Given the description of an element on the screen output the (x, y) to click on. 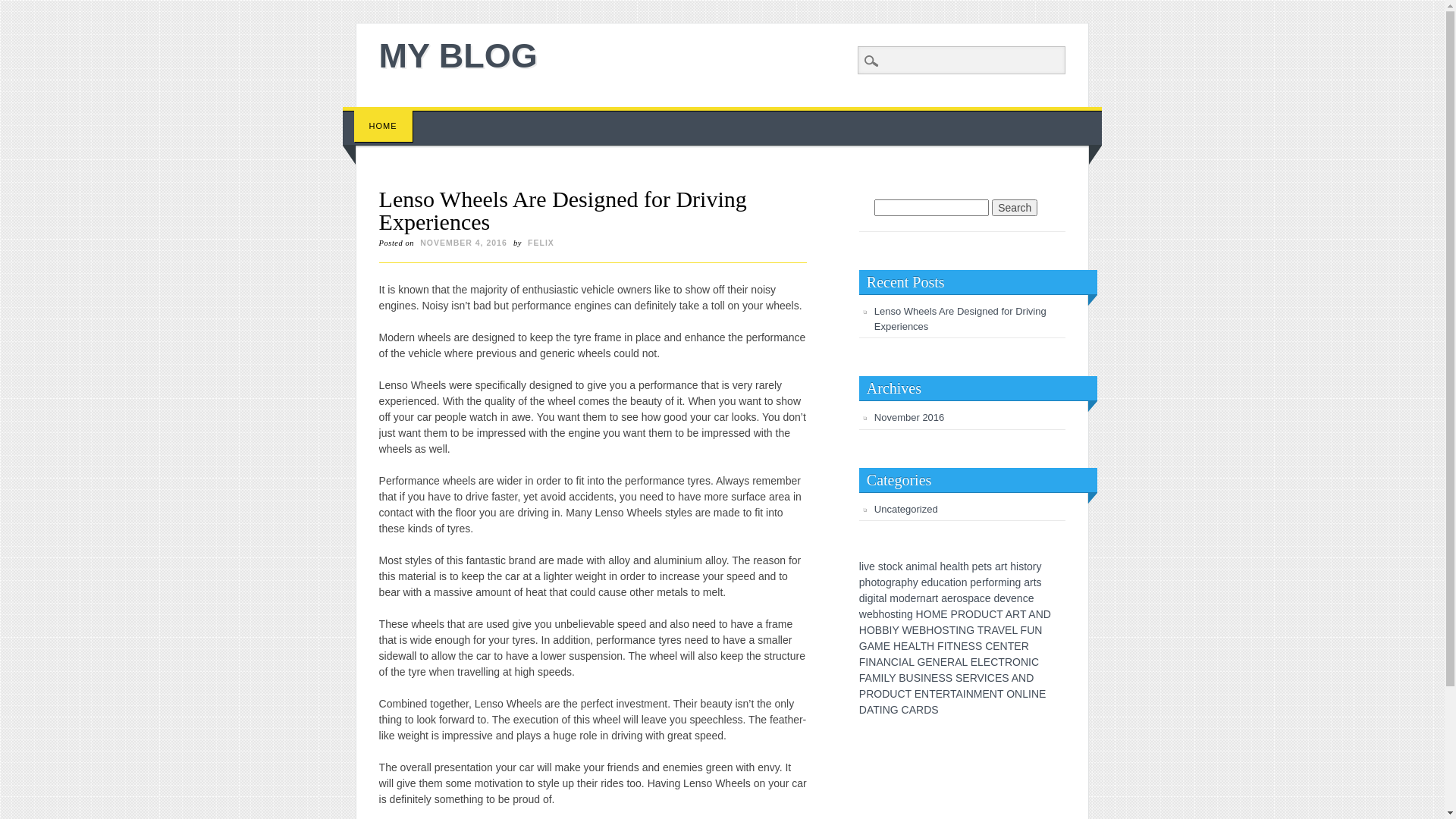
S Element type: text (971, 646)
L Element type: text (1013, 630)
P Element type: text (862, 693)
N Element type: text (1024, 661)
E Element type: text (928, 661)
A Element type: text (904, 661)
H Element type: text (919, 614)
e Element type: text (1031, 598)
t Element type: text (876, 598)
U Element type: text (1030, 630)
N Element type: text (1037, 630)
d Element type: text (862, 598)
h Element type: text (909, 582)
E Element type: text (997, 677)
s Element type: text (1038, 582)
B Element type: text (922, 630)
D Element type: text (862, 709)
i Element type: text (918, 566)
R Element type: text (987, 630)
I Element type: text (882, 677)
o Element type: text (889, 566)
O Element type: text (969, 614)
M Element type: text (936, 614)
R Element type: text (1008, 661)
S Element type: text (978, 646)
U Element type: text (909, 677)
s Element type: text (892, 614)
A Element type: text (957, 661)
w Element type: text (862, 614)
E Element type: text (963, 646)
C Element type: text (900, 693)
t Element type: text (884, 566)
I Element type: text (1029, 661)
o Element type: text (887, 614)
c Element type: text (941, 582)
D Element type: text (885, 693)
i Element type: text (1017, 566)
N Element type: text (1018, 693)
n Element type: text (914, 566)
d Element type: text (996, 598)
N Element type: text (886, 709)
Lenso Wheels Are Designed for Driving Experiences Element type: text (562, 210)
A Element type: text (910, 646)
y Element type: text (1038, 566)
F Element type: text (1023, 630)
Lenso Wheels Are Designed for Driving Experiences Element type: text (960, 318)
T Element type: text (1000, 693)
C Element type: text (1034, 661)
p Element type: text (862, 582)
o Element type: text (1029, 566)
l Element type: text (958, 566)
r Element type: text (893, 582)
C Element type: text (905, 709)
r Element type: text (983, 582)
November 2016 Element type: text (909, 417)
E Element type: text (917, 693)
r Element type: text (955, 598)
i Element type: text (874, 598)
S Element type: text (1004, 677)
A Element type: text (1008, 614)
T Element type: text (952, 630)
n Element type: text (1019, 598)
R Element type: text (961, 614)
c Element type: text (982, 598)
Y Element type: text (894, 630)
E Element type: text (1041, 693)
F Element type: text (940, 646)
I Element type: text (899, 661)
e Element type: text (869, 614)
Search Element type: text (22, 8)
O Element type: text (1016, 661)
S Element type: text (948, 677)
m Element type: text (893, 598)
A Element type: text (958, 693)
L Element type: text (910, 661)
s Element type: text (1020, 566)
H Element type: text (930, 646)
t Element type: text (877, 582)
T Element type: text (950, 646)
c Element type: text (1025, 598)
P Element type: text (953, 614)
G Element type: text (863, 646)
O Element type: text (937, 630)
H Element type: text (862, 630)
O Element type: text (870, 630)
e Element type: text (980, 566)
B Element type: text (884, 630)
Search Element type: text (1014, 207)
T Element type: text (875, 709)
FELIX Element type: text (541, 242)
c Element type: text (894, 566)
b Element type: text (875, 614)
e Element type: text (948, 566)
A Element type: text (1031, 614)
I Element type: text (889, 630)
l Element type: text (885, 598)
F Element type: text (862, 677)
I Element type: text (985, 677)
E Element type: text (986, 661)
e Element type: text (950, 598)
T Element type: text (1000, 661)
B Element type: text (901, 677)
R Element type: text (946, 693)
G Element type: text (894, 709)
S Element type: text (941, 677)
a Element type: text (976, 598)
d Element type: text (929, 582)
V Element type: text (1000, 630)
L Element type: text (885, 677)
S Element type: text (916, 677)
S Element type: text (958, 677)
p Element type: text (972, 582)
o Element type: text (991, 582)
r Element type: text (995, 582)
I Element type: text (880, 709)
t Element type: text (896, 614)
s Element type: text (880, 566)
E Element type: text (938, 693)
a Element type: text (954, 566)
N Element type: text (1003, 646)
a Element type: text (1026, 582)
M Element type: text (876, 677)
t Element type: text (1024, 566)
g Element type: text (1018, 582)
T Element type: text (1010, 646)
D Element type: text (977, 614)
N Element type: text (924, 693)
l Element type: text (935, 566)
i Element type: text (899, 614)
h Element type: text (881, 614)
N Element type: text (1022, 677)
f Element type: text (986, 582)
I Element type: text (956, 630)
i Element type: text (954, 582)
T Element type: text (923, 646)
C Element type: text (993, 661)
g Element type: text (909, 614)
r Element type: text (917, 598)
T Element type: text (953, 693)
t Element type: text (951, 582)
N Element type: text (887, 661)
R Element type: text (1015, 614)
o Element type: text (958, 582)
T Element type: text (931, 693)
h Element type: text (868, 582)
T Element type: text (999, 614)
p Element type: text (970, 598)
A Element type: text (869, 709)
O Element type: text (1010, 693)
Skip to content Element type: text (377, 114)
I Element type: text (921, 677)
G Element type: text (920, 661)
v Element type: text (866, 566)
e Element type: text (913, 598)
t Element type: text (1005, 566)
I Element type: text (866, 661)
o Element type: text (901, 598)
I Element type: text (1029, 693)
U Element type: text (893, 693)
E Element type: text (965, 677)
y Element type: text (915, 582)
N Element type: text (956, 646)
D Element type: text (927, 709)
T Element type: text (980, 630)
S Element type: text (944, 630)
N Element type: text (936, 661)
h Element type: text (966, 566)
i Element type: text (866, 598)
R Element type: text (1025, 646)
U Element type: text (984, 614)
a Element type: text (931, 566)
s Element type: text (988, 566)
G Element type: text (970, 630)
HOME Element type: text (383, 125)
M Element type: text (878, 646)
l Element type: text (860, 566)
E Element type: text (985, 693)
N Element type: text (871, 661)
E Element type: text (934, 677)
n Element type: text (1012, 582)
u Element type: text (935, 582)
t Element type: text (936, 598)
n Element type: text (922, 598)
NOVEMBER 4, 2016 Element type: text (463, 242)
R Element type: text (973, 677)
O Element type: text (877, 693)
V Element type: text (980, 677)
A Element type: text (878, 661)
r Element type: text (1002, 566)
r Element type: text (933, 598)
a Element type: text (897, 582)
p Element type: text (975, 566)
O Element type: text (927, 614)
N Element type: text (1039, 614)
a Element type: text (997, 566)
n Element type: text (964, 582)
W Element type: text (906, 630)
C Element type: text (988, 646)
T Element type: text (1022, 614)
N Element type: text (962, 630)
E Element type: text (915, 630)
H Element type: text (896, 646)
t Element type: text (961, 566)
MY BLOG Element type: text (458, 55)
D Element type: text (1047, 614)
T Element type: text (908, 693)
k Element type: text (899, 566)
C Element type: text (992, 614)
r Element type: text (1034, 566)
N Element type: text (969, 693)
e Element type: text (1002, 598)
H Element type: text (929, 630)
A Element type: text (870, 646)
M Element type: text (977, 693)
C Element type: text (990, 677)
E Element type: text (943, 661)
L Element type: text (1025, 693)
a Element type: text (944, 598)
i Element type: text (1008, 582)
L Element type: text (917, 646)
o Element type: text (882, 582)
Y Element type: text (891, 677)
m Element type: text (1002, 582)
e Element type: text (988, 598)
E Element type: text (903, 646)
L Element type: text (980, 661)
N Element type: text (993, 693)
A Element type: text (868, 677)
g Element type: text (888, 582)
h Element type: text (1013, 566)
a Element type: text (881, 598)
F Element type: text (862, 661)
A Element type: text (912, 709)
v Element type: text (1007, 598)
A Element type: text (994, 630)
E Element type: text (886, 646)
s Element type: text (964, 598)
I Element type: text (964, 693)
E Element type: text (943, 614)
t Element type: text (1034, 582)
C Element type: text (894, 661)
d Element type: text (907, 598)
Uncategorized Element type: text (906, 508)
B Element type: text (878, 630)
e Element type: text (978, 582)
D Element type: text (1029, 677)
E Element type: text (1016, 646)
h Element type: text (943, 566)
L Element type: text (964, 661)
N Element type: text (927, 677)
n Element type: text (903, 614)
e Element type: text (924, 582)
a Element type: text (908, 566)
p Element type: text (903, 582)
R Element type: text (919, 709)
g Element type: text (870, 598)
I Element type: text (945, 646)
E Element type: text (1007, 630)
N Element type: text (1034, 693)
S Element type: text (934, 709)
m Element type: text (923, 566)
r Element type: text (1031, 582)
R Element type: text (950, 661)
t Element type: text (984, 566)
a Element type: text (928, 598)
A Element type: text (1014, 677)
o Element type: text (873, 582)
a Element type: text (947, 582)
e Element type: text (872, 566)
e Element type: text (1013, 598)
i Element type: text (862, 566)
E Element type: text (995, 646)
E Element type: text (973, 661)
o Element type: text (959, 598)
R Element type: text (869, 693)
